Given the description of an element on the screen output the (x, y) to click on. 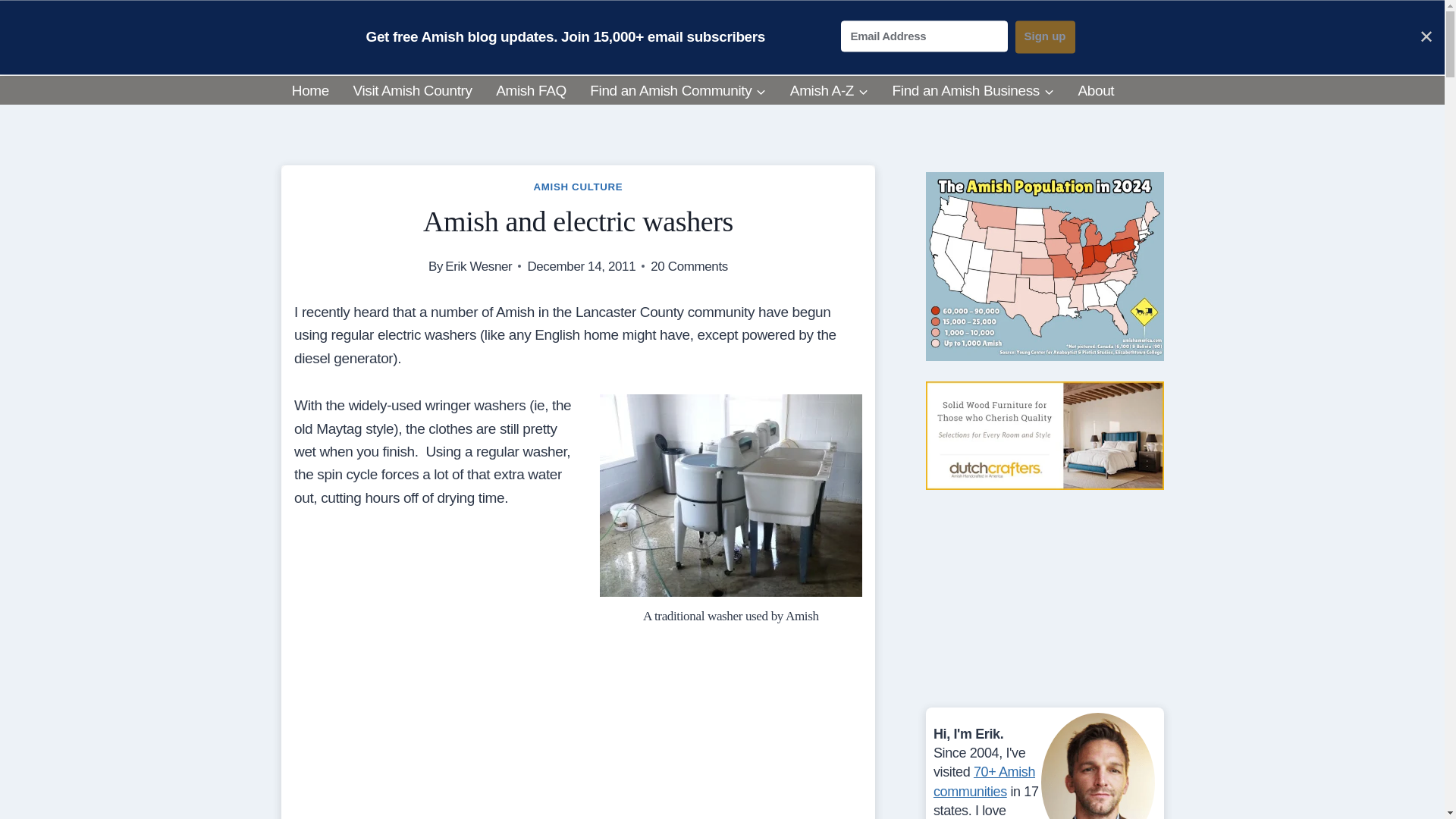
20 Comments (689, 266)
Homepage (309, 90)
Visit Amish Country (412, 90)
Amish FAQ (530, 90)
20 Comments (689, 266)
Home (309, 90)
Amish A-Z (828, 90)
Find an Amish Business (972, 90)
A-Z Guide to Amish Topics (828, 90)
Site search (1118, 48)
